Given the description of an element on the screen output the (x, y) to click on. 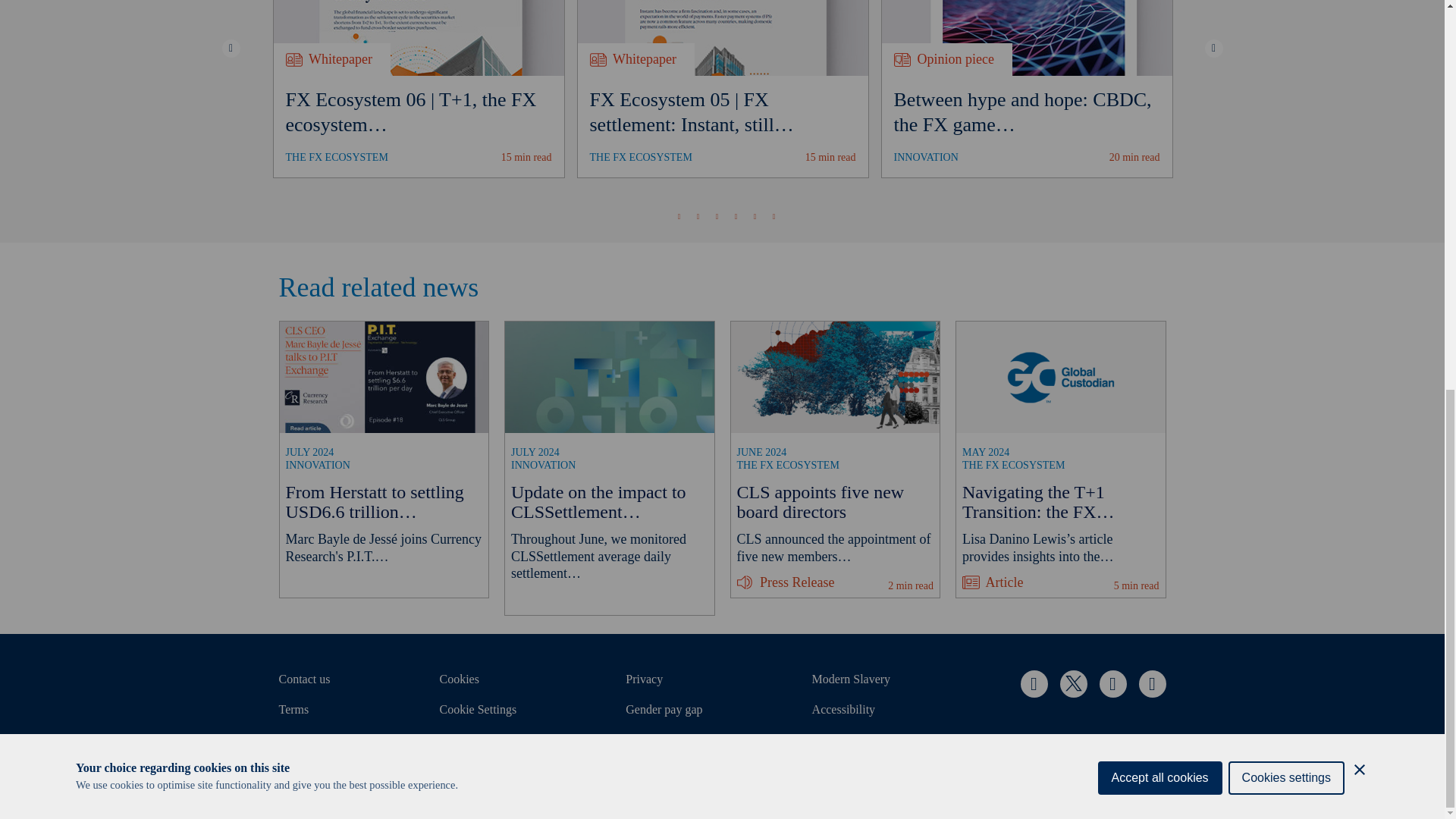
Accept all cookies (1160, 118)
Cookies settings (1285, 109)
